Given the description of an element on the screen output the (x, y) to click on. 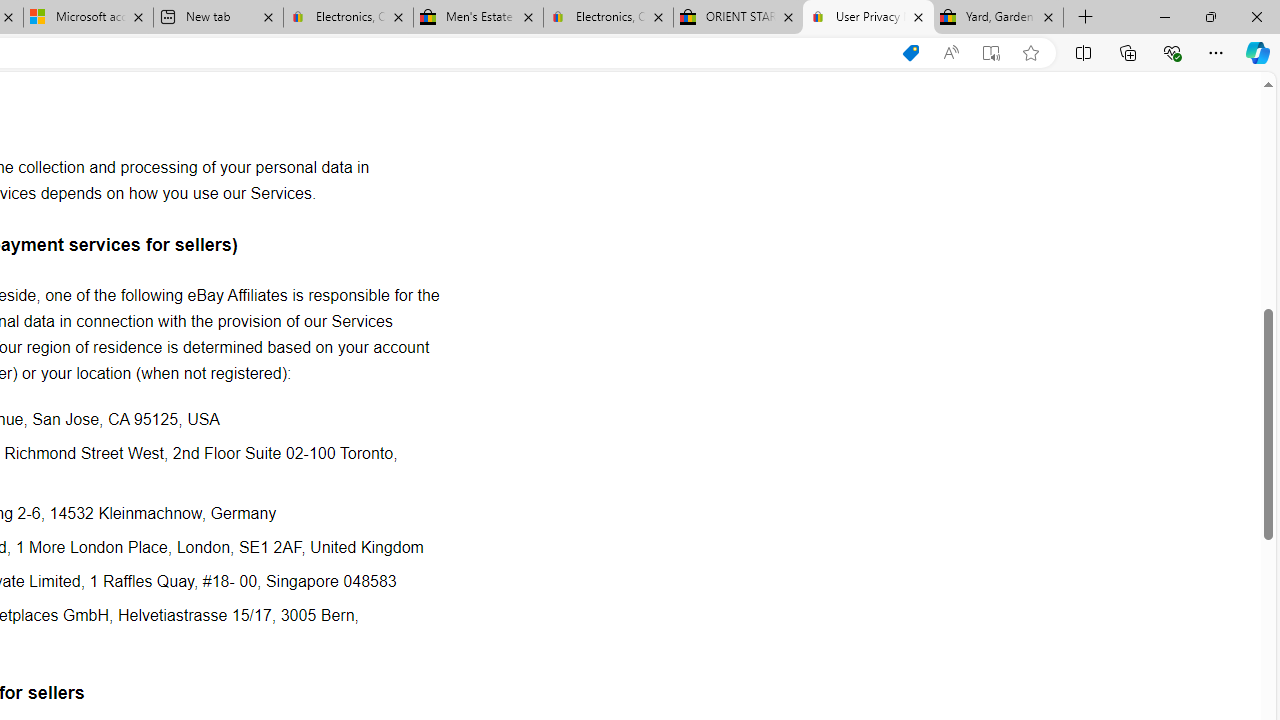
This site has coupons! Shopping in Microsoft Edge (910, 53)
